Given the description of an element on the screen output the (x, y) to click on. 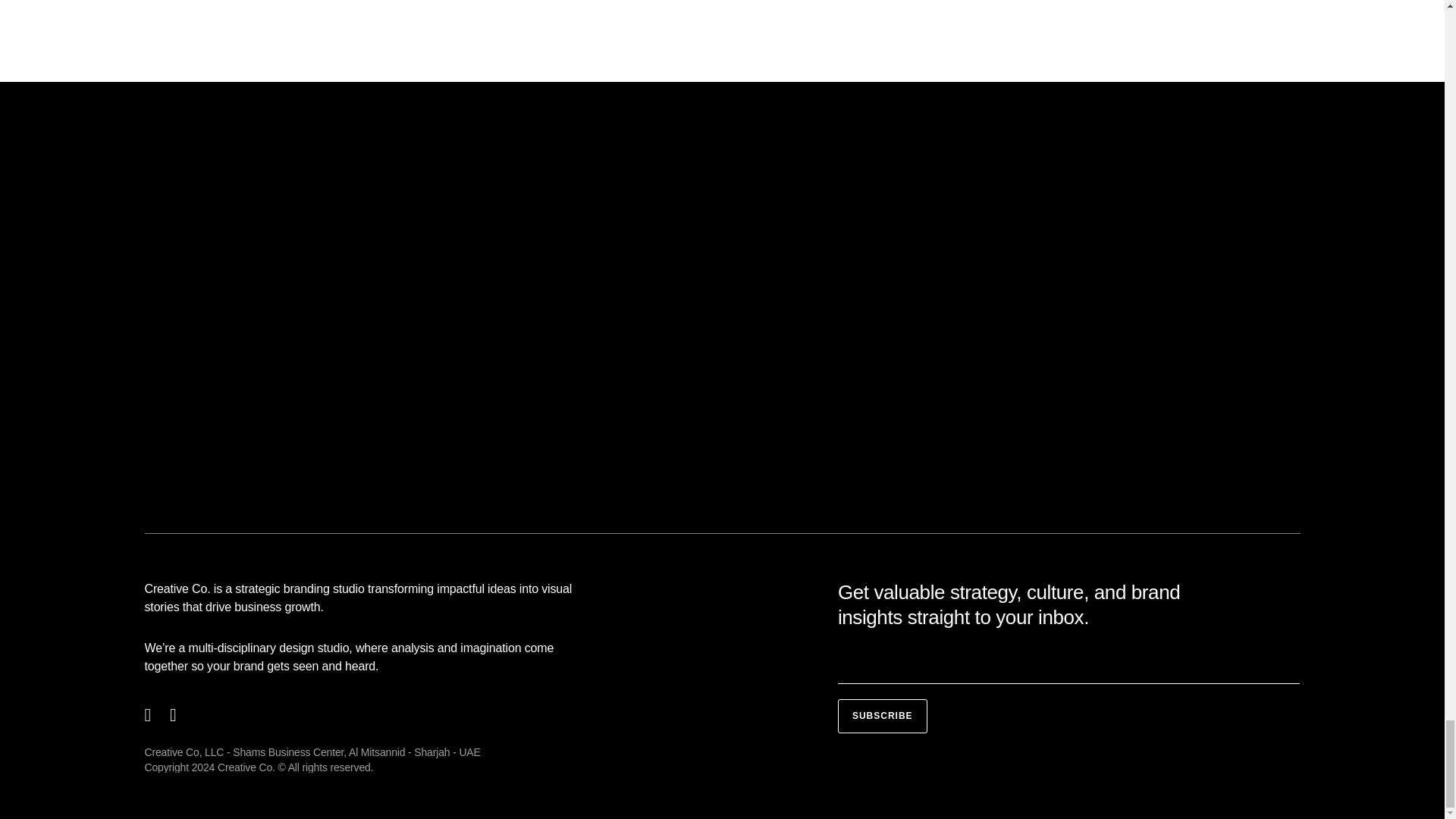
Subscribe (882, 716)
Subscribe (882, 716)
